Given the description of an element on the screen output the (x, y) to click on. 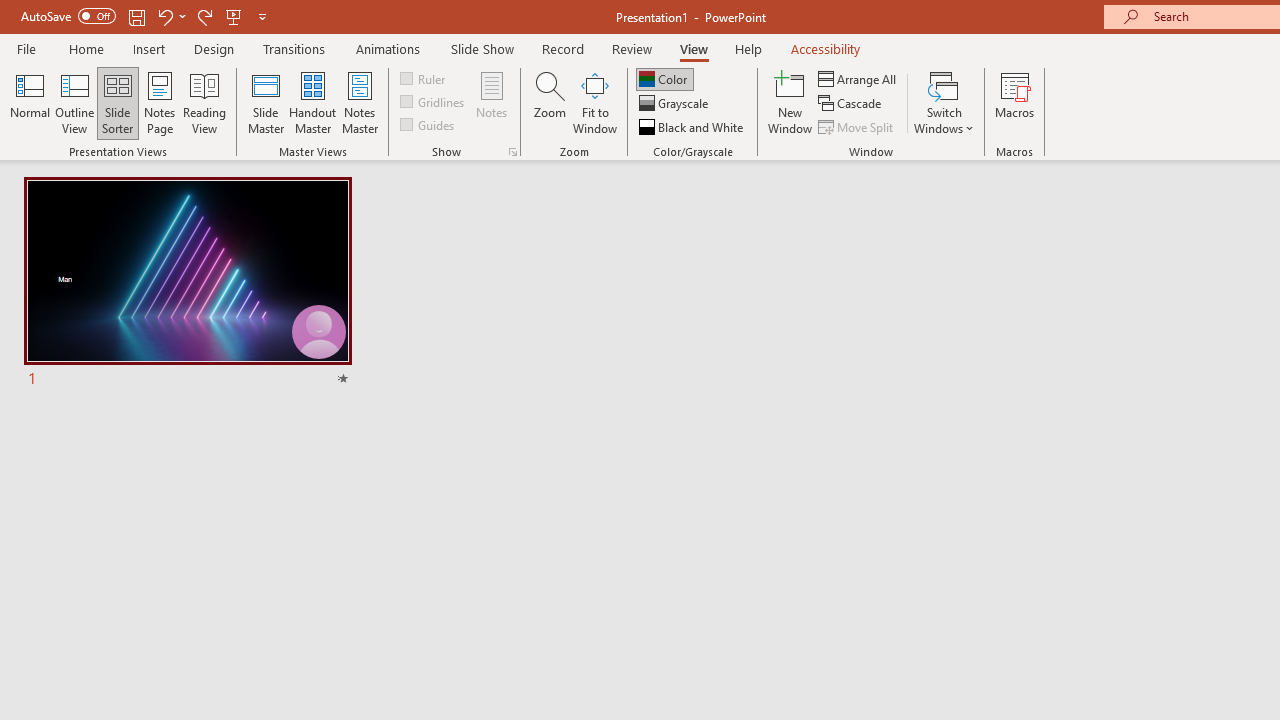
Notes Page (159, 102)
New Window (790, 102)
Black and White (693, 126)
Fit to Window (594, 102)
Notes (492, 102)
Arrange All (858, 78)
Move Split (857, 126)
Gridlines (433, 101)
